Given the description of an element on the screen output the (x, y) to click on. 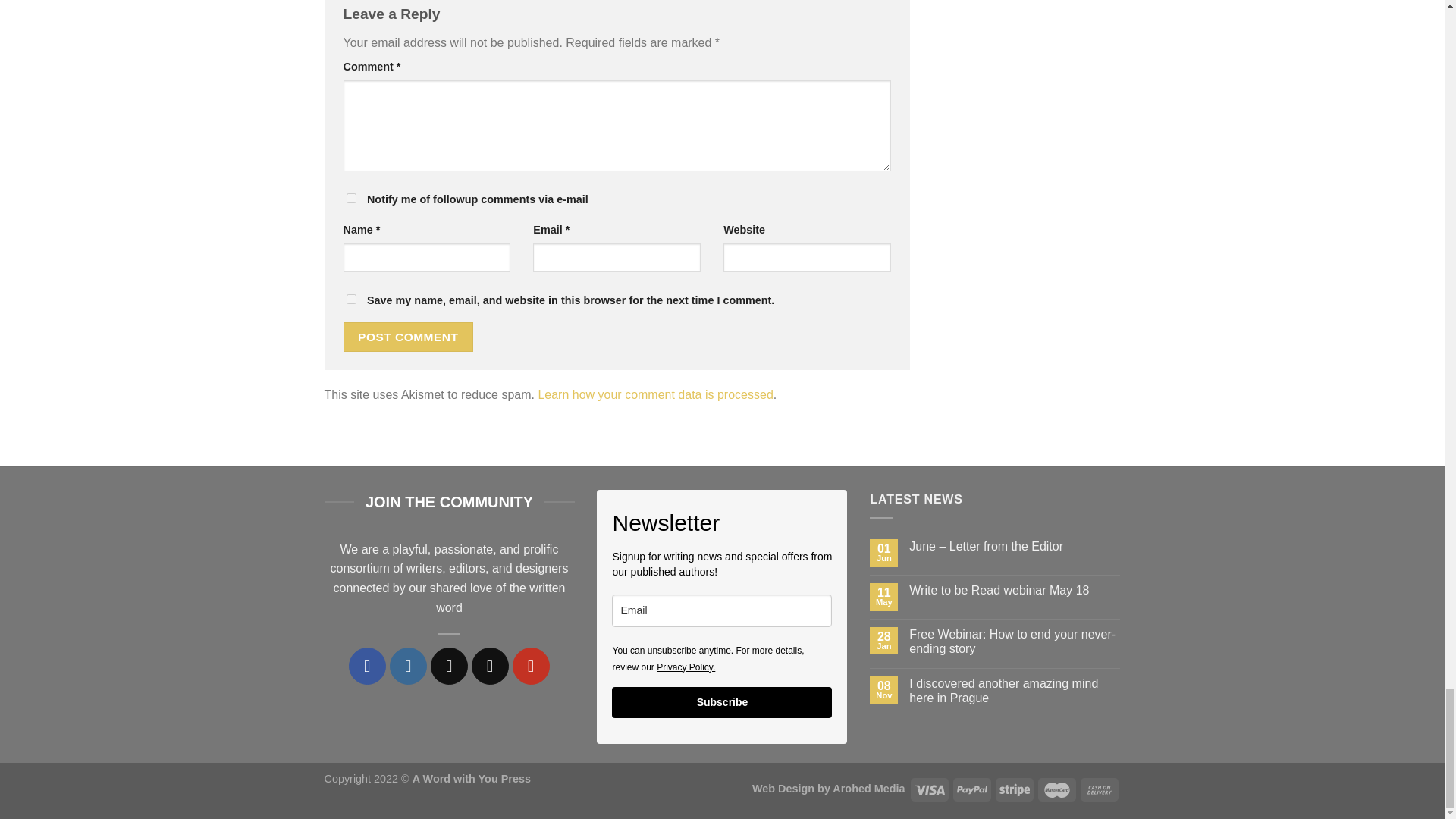
Post Comment (407, 337)
subscribe (350, 198)
yes (350, 298)
